Given the description of an element on the screen output the (x, y) to click on. 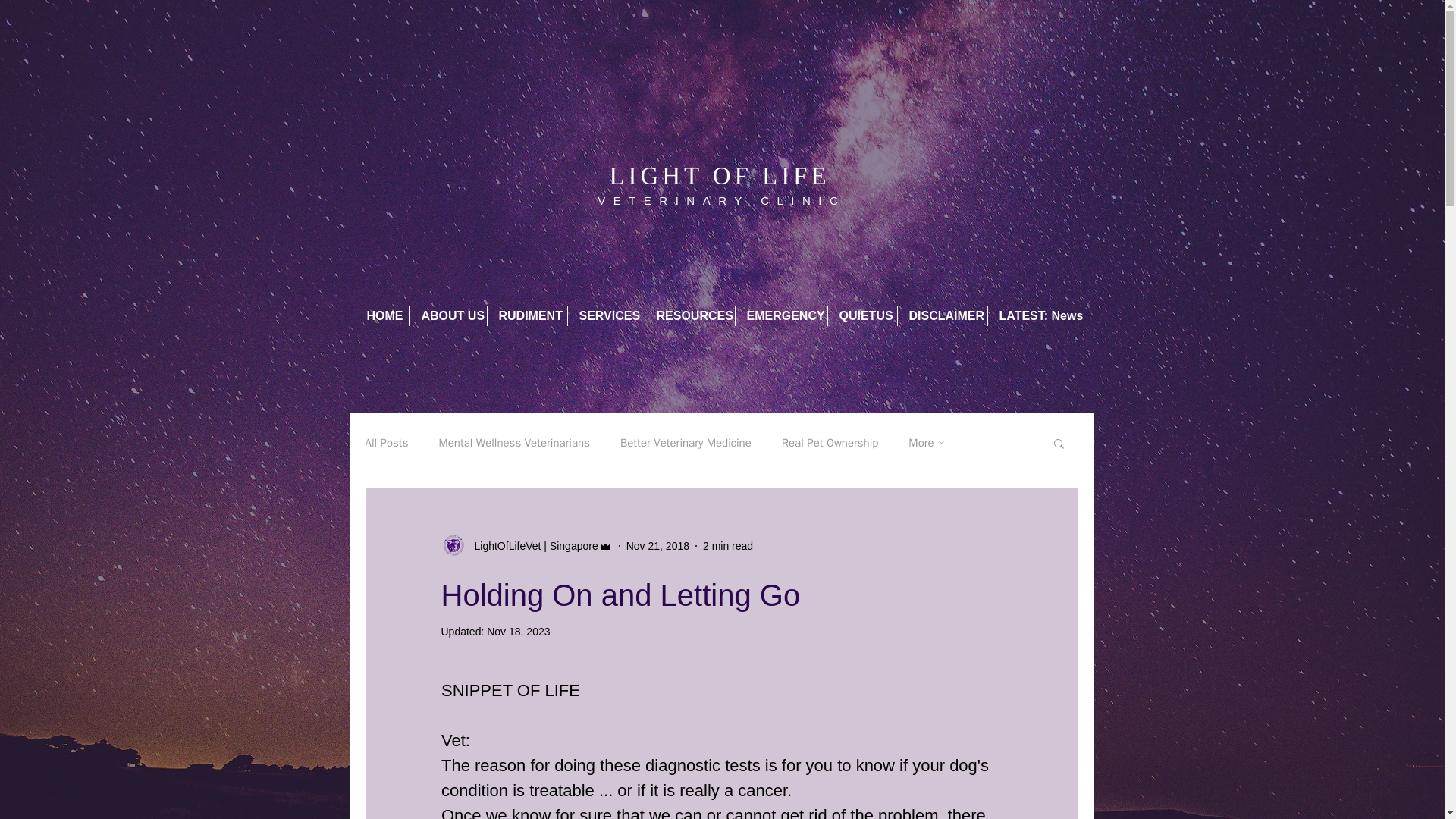
All Posts (387, 441)
Nov 21, 2018 (657, 545)
Nov 18, 2023 (518, 631)
RUDIMENT (526, 315)
Mental Wellness Veterinarians (513, 441)
Better Veterinary Medicine (685, 441)
2 min read (727, 545)
SERVICES (605, 315)
ABOUT US (447, 315)
EMERGENCY (781, 315)
